Given the description of an element on the screen output the (x, y) to click on. 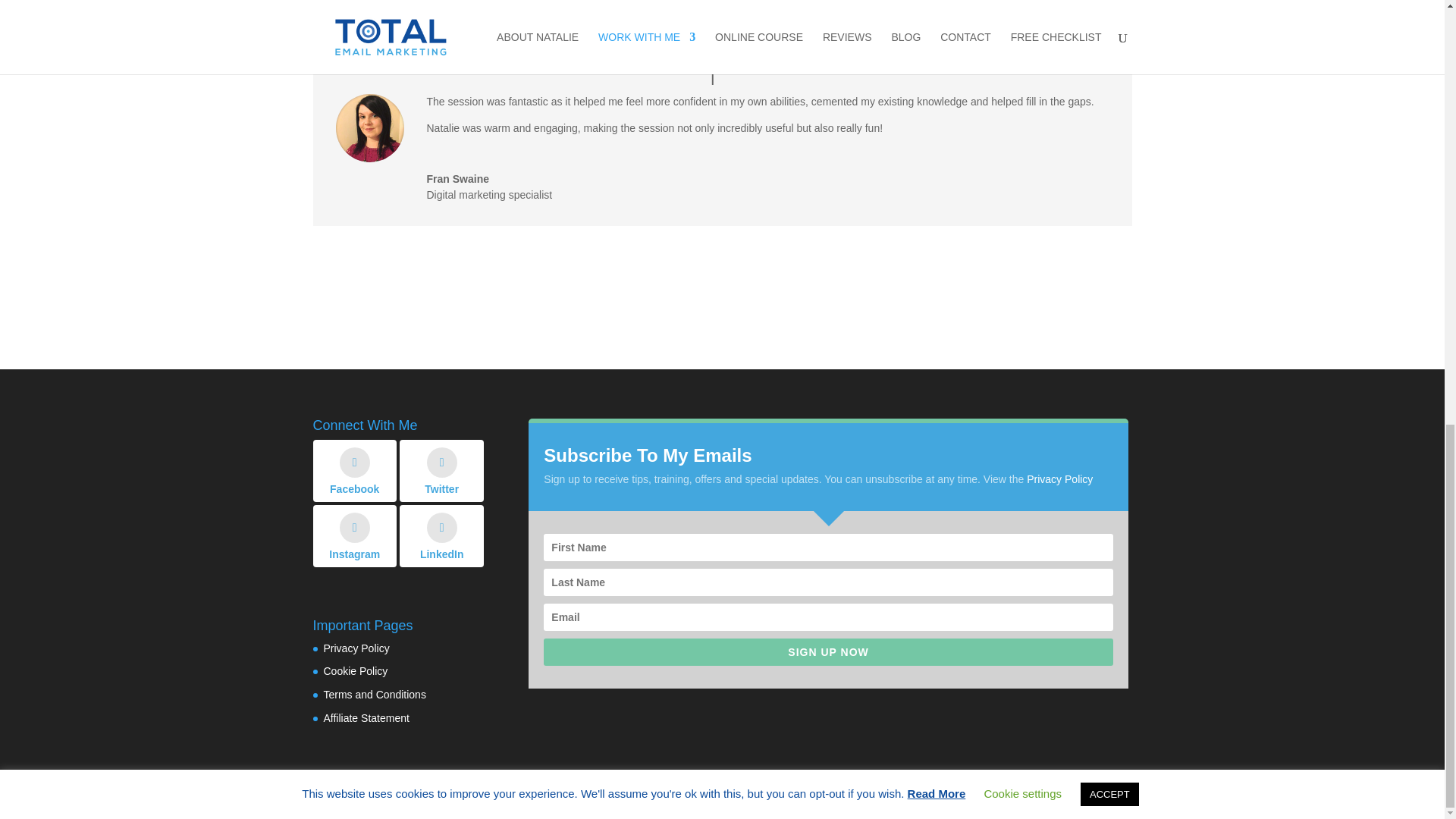
Instagram (354, 536)
LinkedIn (440, 536)
Facebook (354, 470)
Privacy Policy (355, 648)
Get Started (721, 15)
Affiliate Statement (366, 717)
Twitter (440, 470)
Terms and Conditions (374, 694)
Cookie Policy (355, 671)
